Given the description of an element on the screen output the (x, y) to click on. 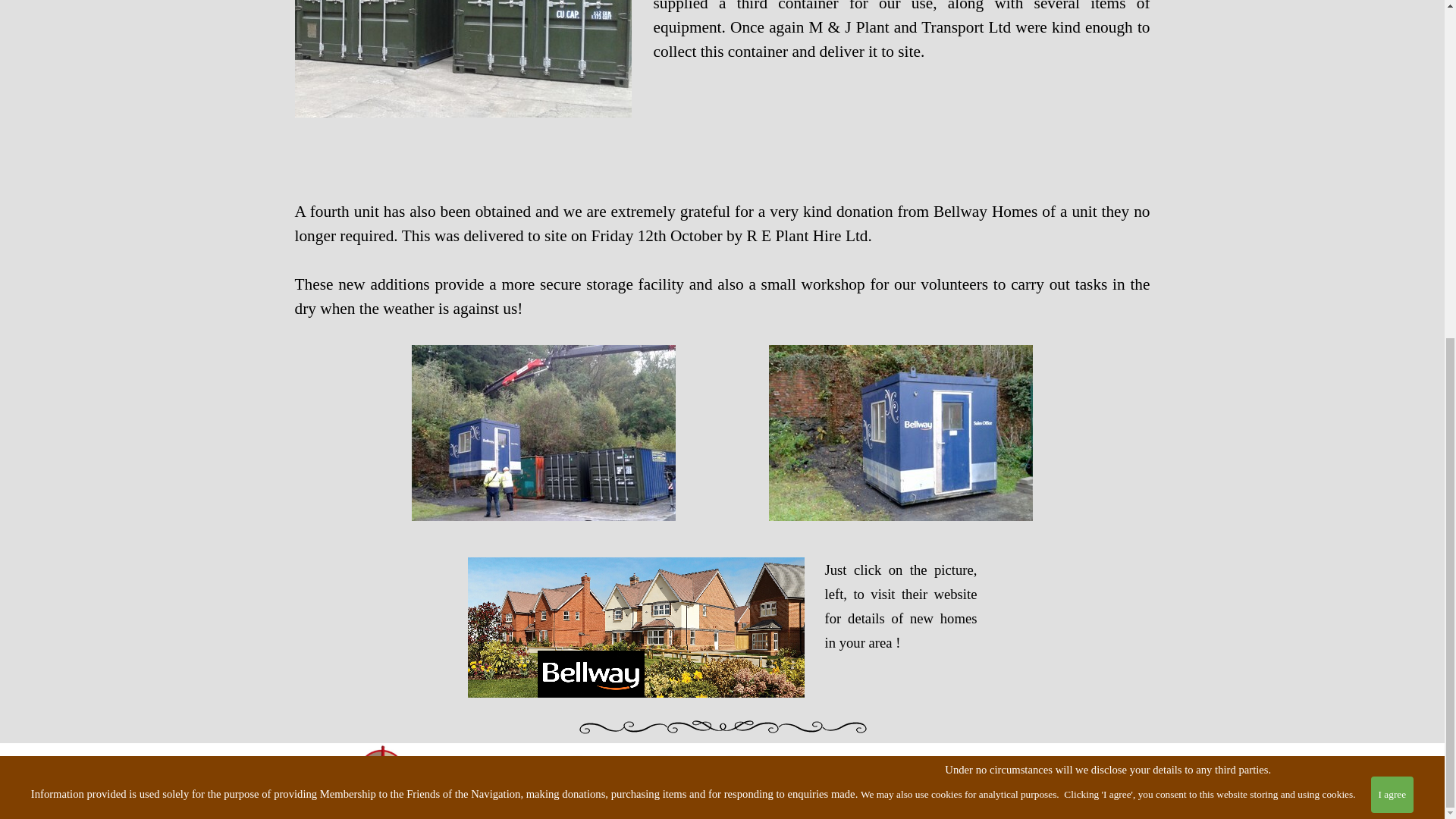
separation bar (721, 726)
Bellway Homes (635, 627)
New Containers (462, 58)
Navigation logo (380, 774)
